Given the description of an element on the screen output the (x, y) to click on. 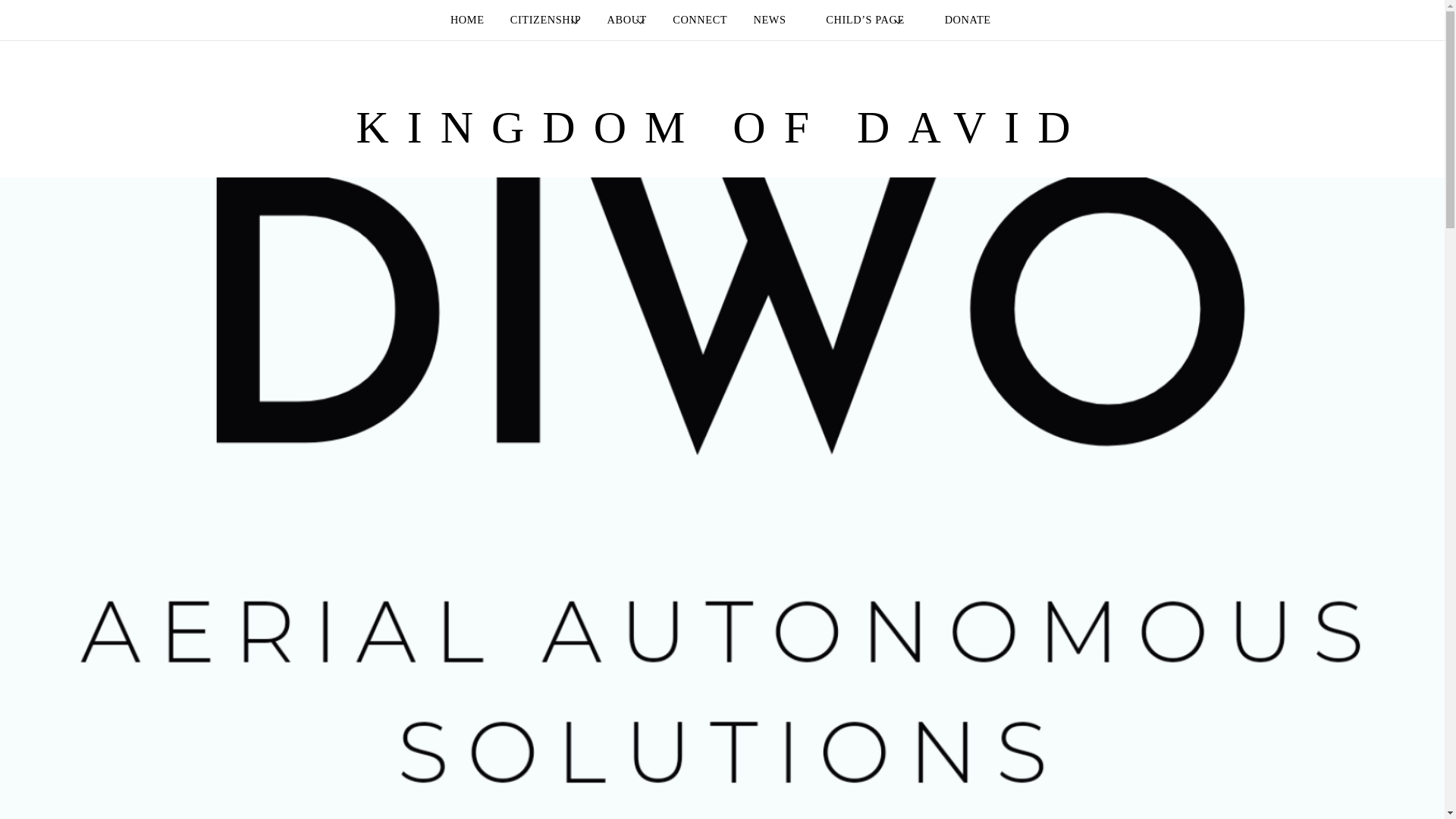
CONNECT (699, 20)
NEWS (768, 20)
ABOUT (626, 20)
CITIZENSHIP (544, 20)
DONATE (959, 20)
KINGDOM OF DAVID (721, 127)
Kingdom of David (721, 127)
HOME (467, 20)
